Given the description of an element on the screen output the (x, y) to click on. 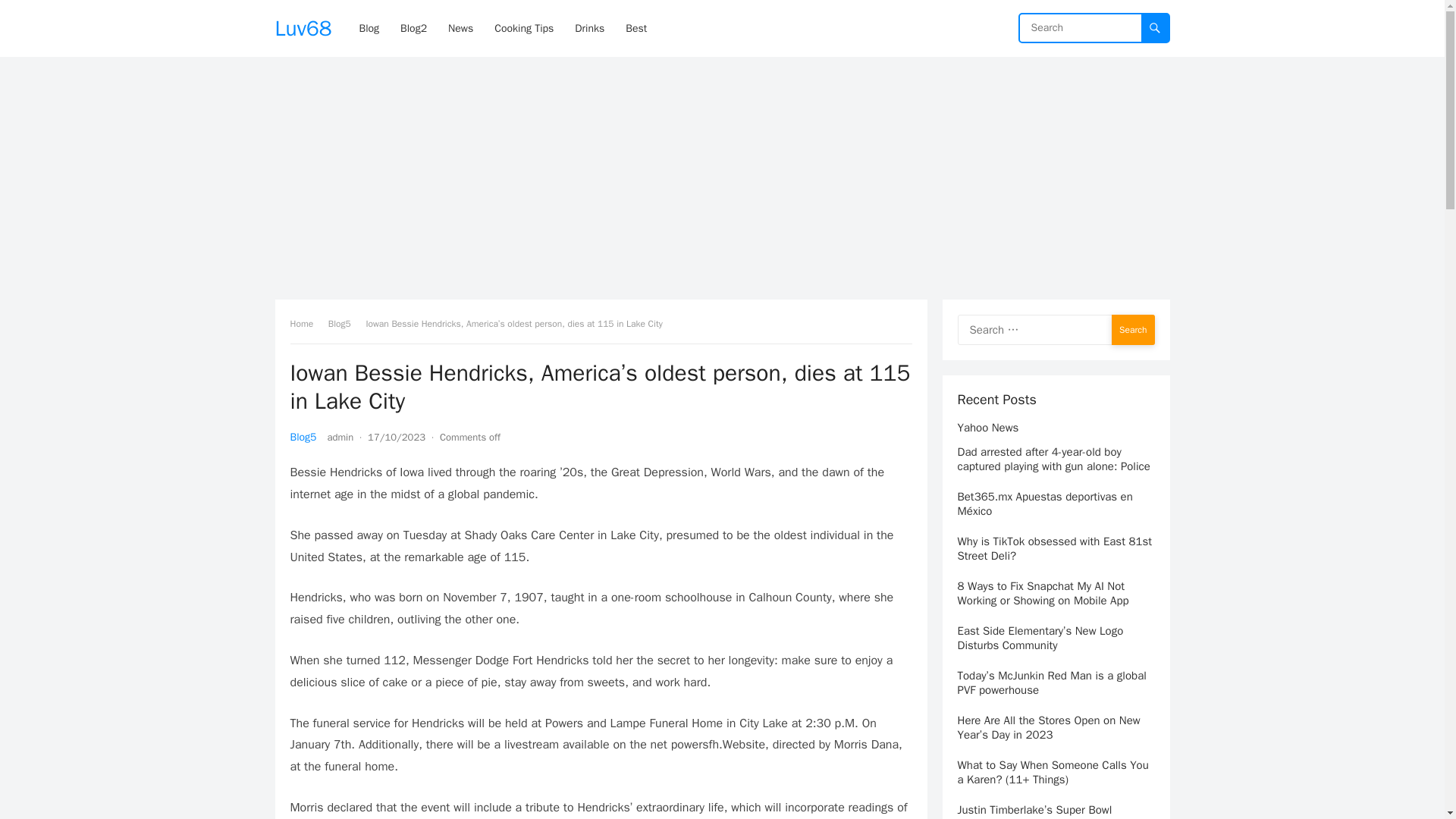
Search (1133, 329)
admin (339, 436)
Home (306, 323)
Cooking Tips (523, 28)
Luv68 (303, 28)
Blog5 (345, 323)
Posts by admin (339, 436)
Blog5 (302, 436)
Search (1133, 329)
